Given the description of an element on the screen output the (x, y) to click on. 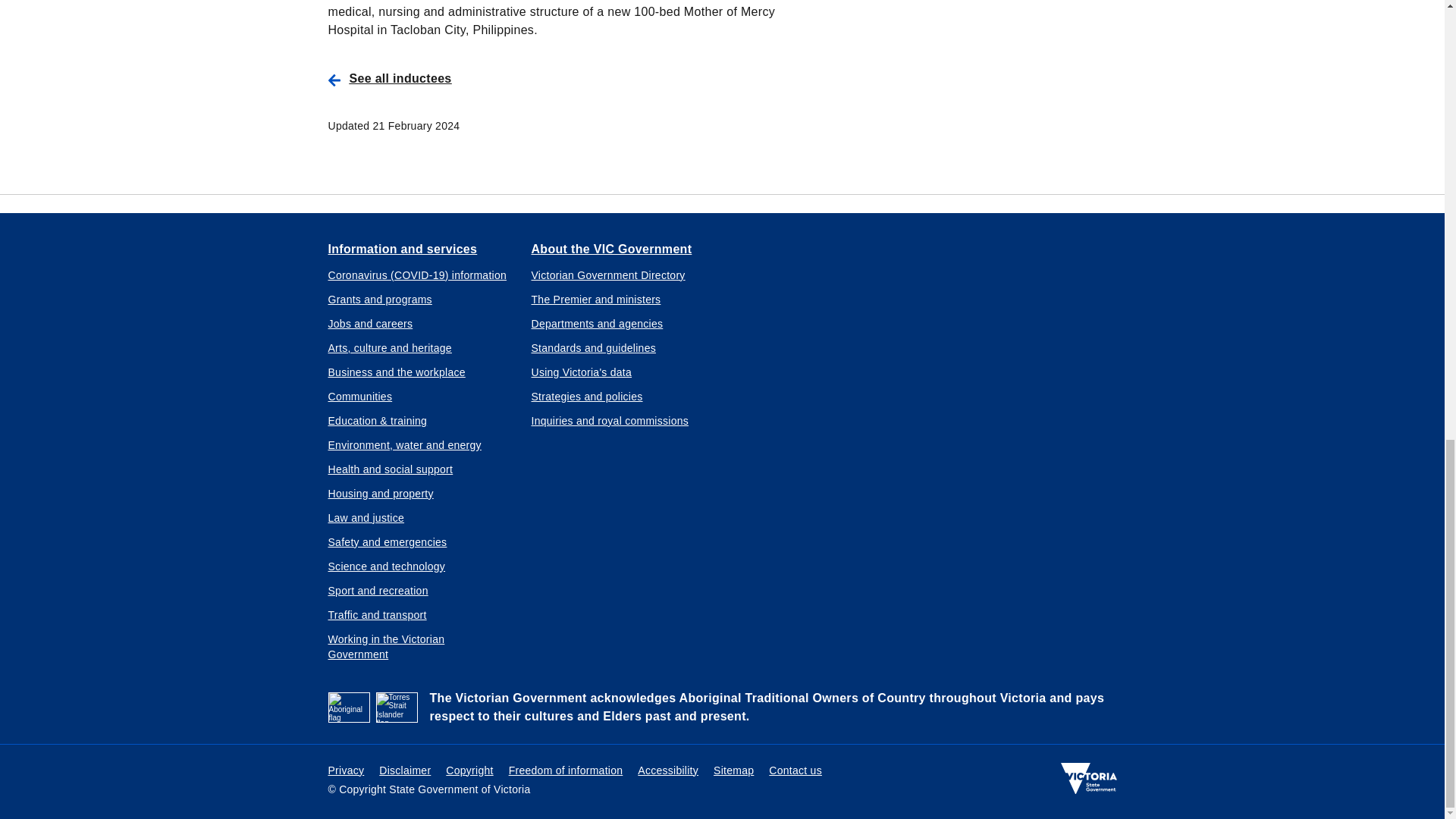
Traffic and transport (376, 613)
Communities (359, 395)
Safety and emergencies (386, 540)
See all inductees (563, 78)
Business and the workplace (395, 371)
About the VIC Government (611, 248)
Inquiries and royal commissions (609, 419)
Using Victoria's data (581, 371)
Strategies and policies (586, 395)
Privacy (345, 770)
Standards and guidelines (593, 346)
Health and social support (389, 468)
Housing and property (379, 492)
Jobs and careers (369, 322)
Law and justice (365, 516)
